Given the description of an element on the screen output the (x, y) to click on. 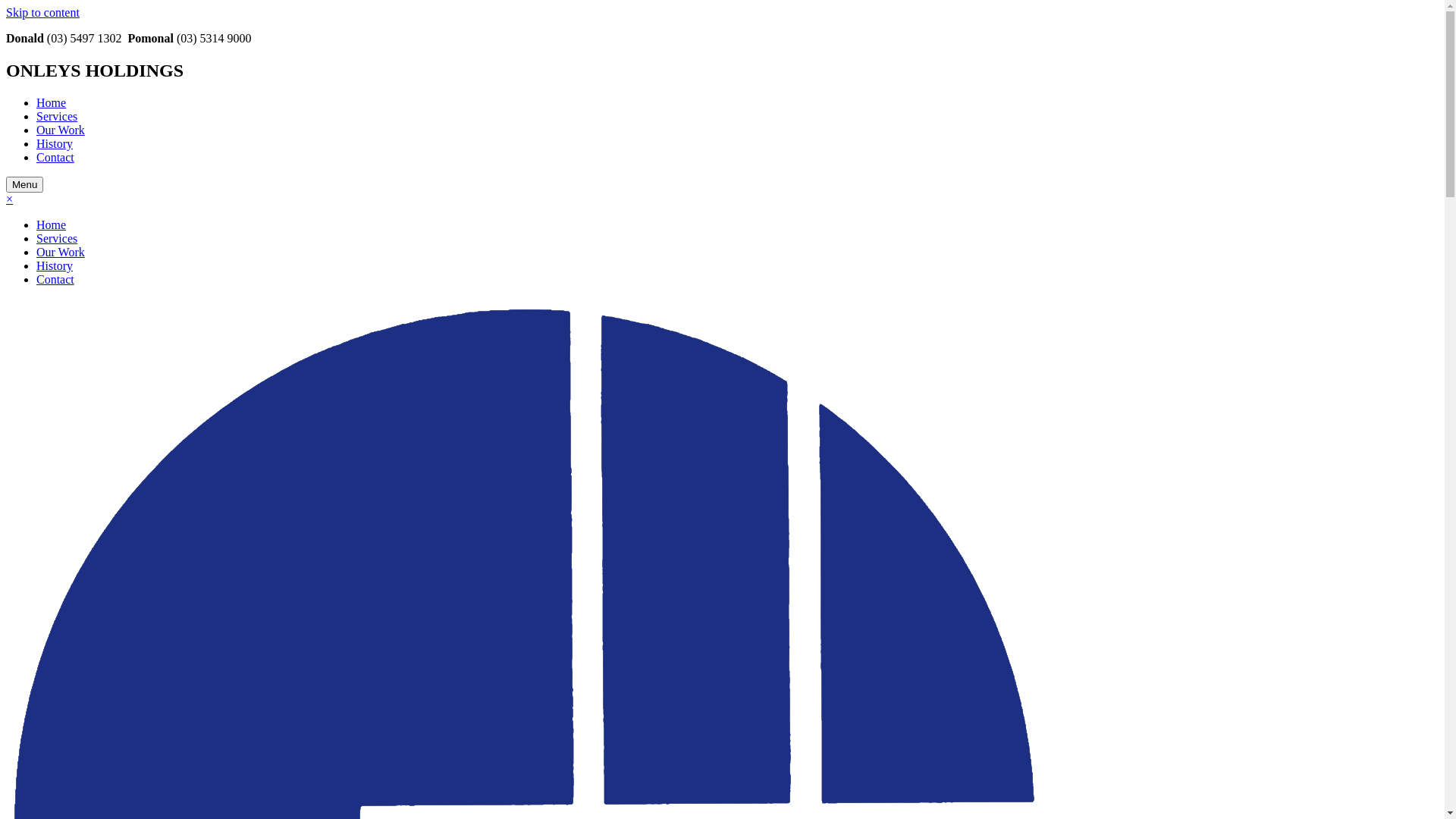
Home Element type: text (50, 102)
Services Element type: text (56, 238)
Home Element type: text (50, 224)
History Element type: text (54, 143)
Contact Element type: text (55, 279)
Services Element type: text (56, 115)
History Element type: text (54, 265)
Skip to content Element type: text (42, 12)
Menu Element type: text (24, 184)
Our Work Element type: text (60, 251)
Our Work Element type: text (60, 129)
Contact Element type: text (55, 156)
